Given the description of an element on the screen output the (x, y) to click on. 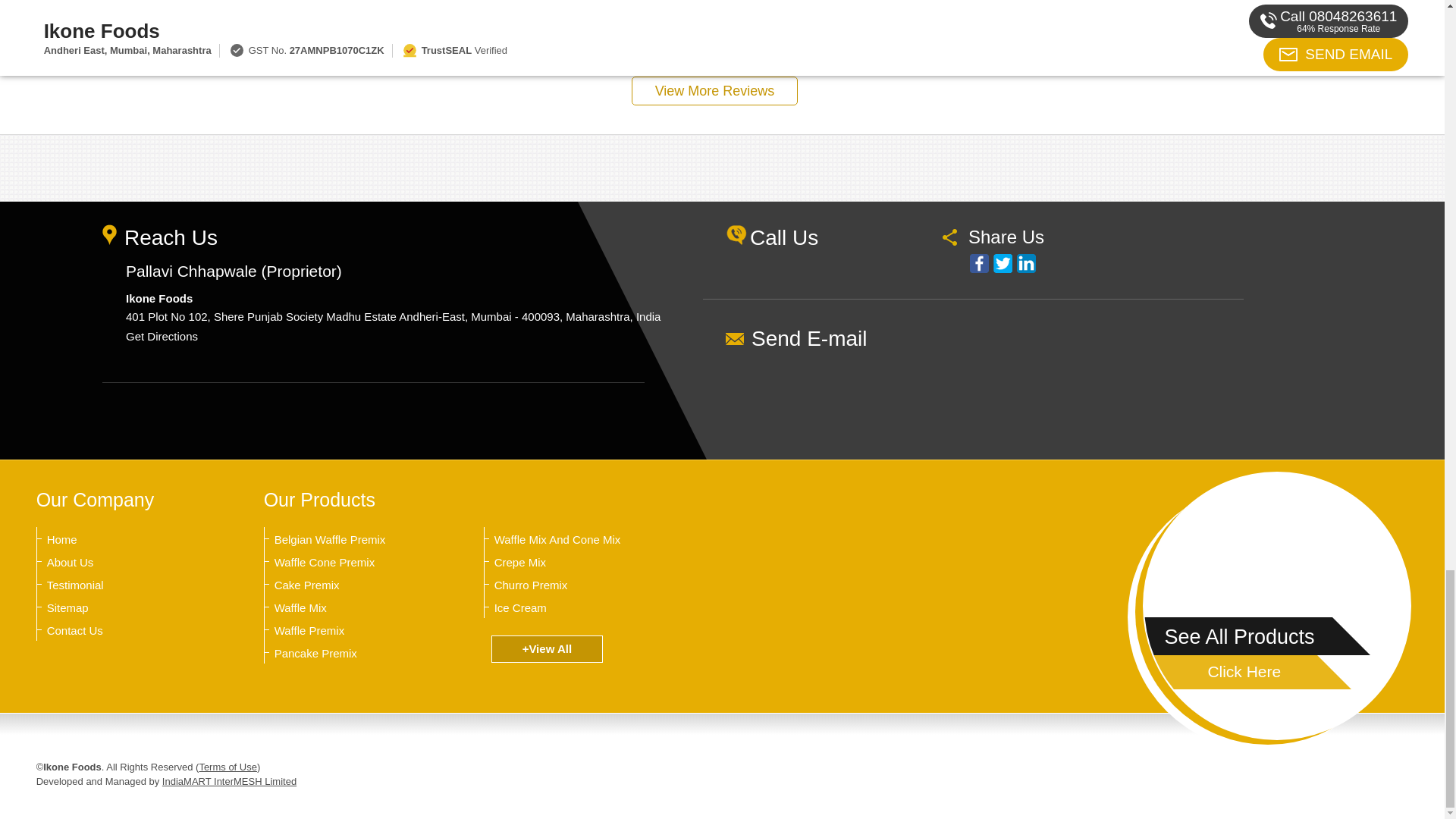
Home (121, 539)
Belgian Waffle Premix (348, 539)
About Us (121, 562)
Facebook (978, 262)
Waffle Cone Premix (348, 562)
Twitter (1001, 262)
Testimonial (121, 585)
Our Products (319, 499)
LinkedIn (1025, 262)
Contact Us (121, 630)
Get Directions (161, 336)
View More Reviews (714, 90)
Sitemap (121, 607)
